Given the description of an element on the screen output the (x, y) to click on. 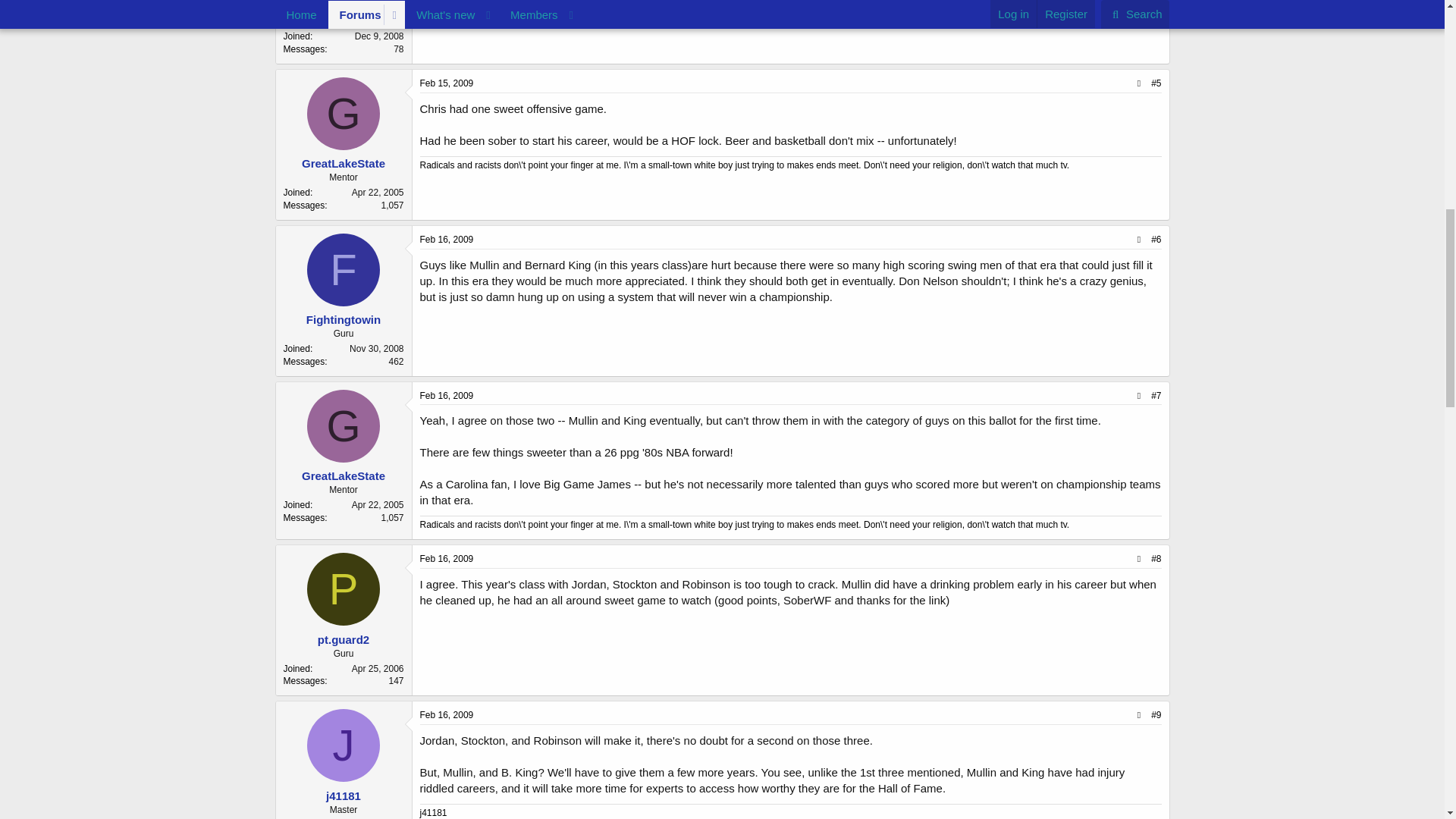
Feb 16, 2009 at 1:20 AM (447, 239)
Feb 16, 2009 at 5:57 PM (447, 558)
Feb 15, 2009 at 11:12 PM (447, 82)
Feb 16, 2009 at 6:57 PM (447, 715)
Feb 16, 2009 at 1:30 AM (447, 395)
